Given the description of an element on the screen output the (x, y) to click on. 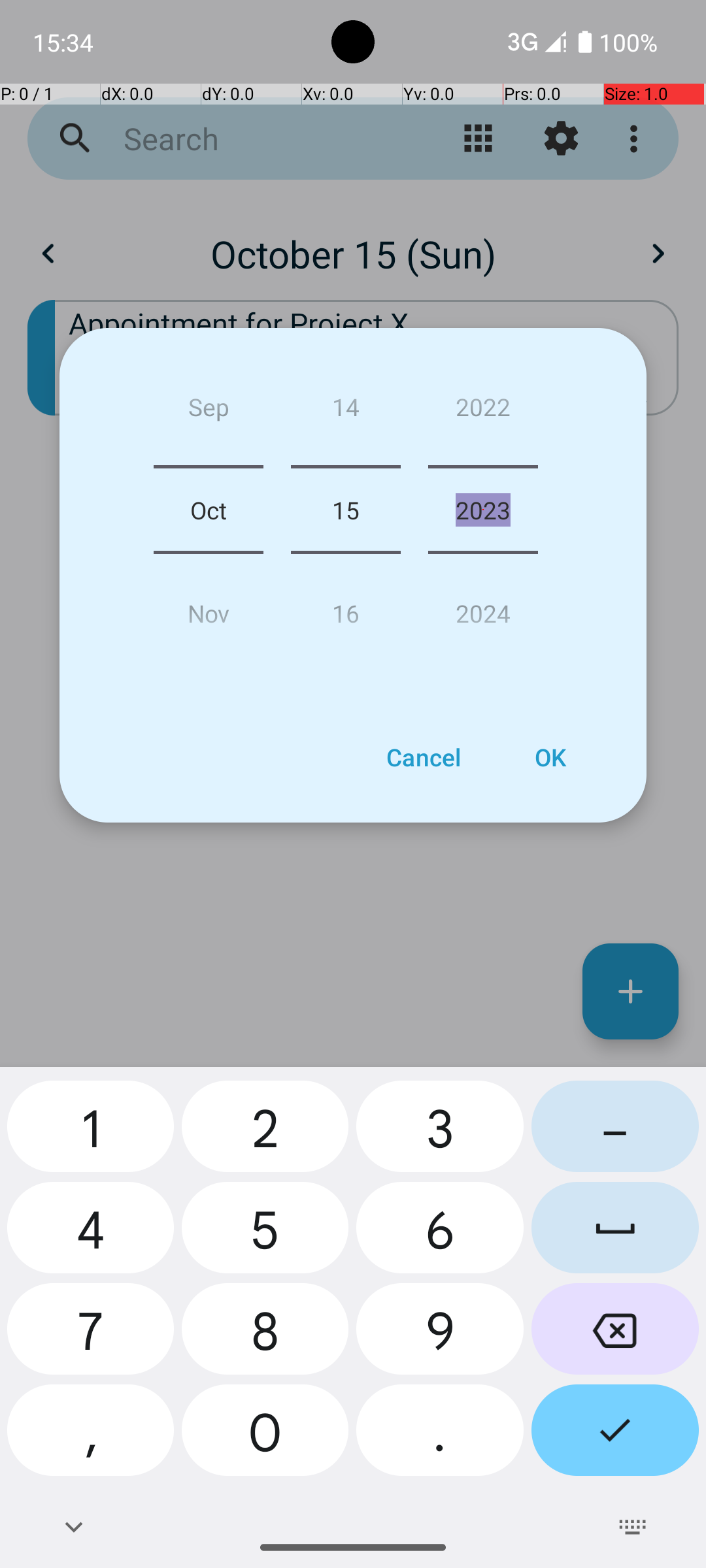
Nov Element type: android.widget.Button (208, 607)
